Given the description of an element on the screen output the (x, y) to click on. 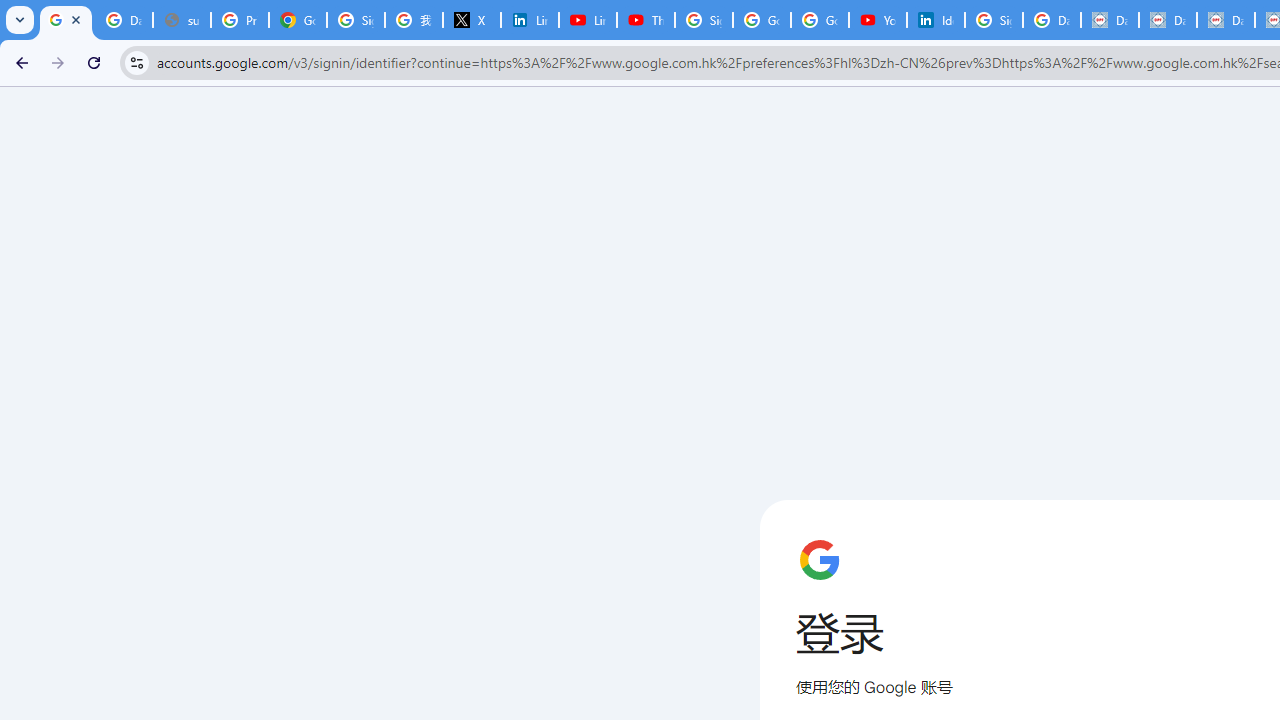
Data Privacy Framework (1225, 20)
Privacy Help Center - Policies Help (239, 20)
Sign in - Google Accounts (993, 20)
LinkedIn - YouTube (587, 20)
Data Privacy Framework (1110, 20)
